Given the description of an element on the screen output the (x, y) to click on. 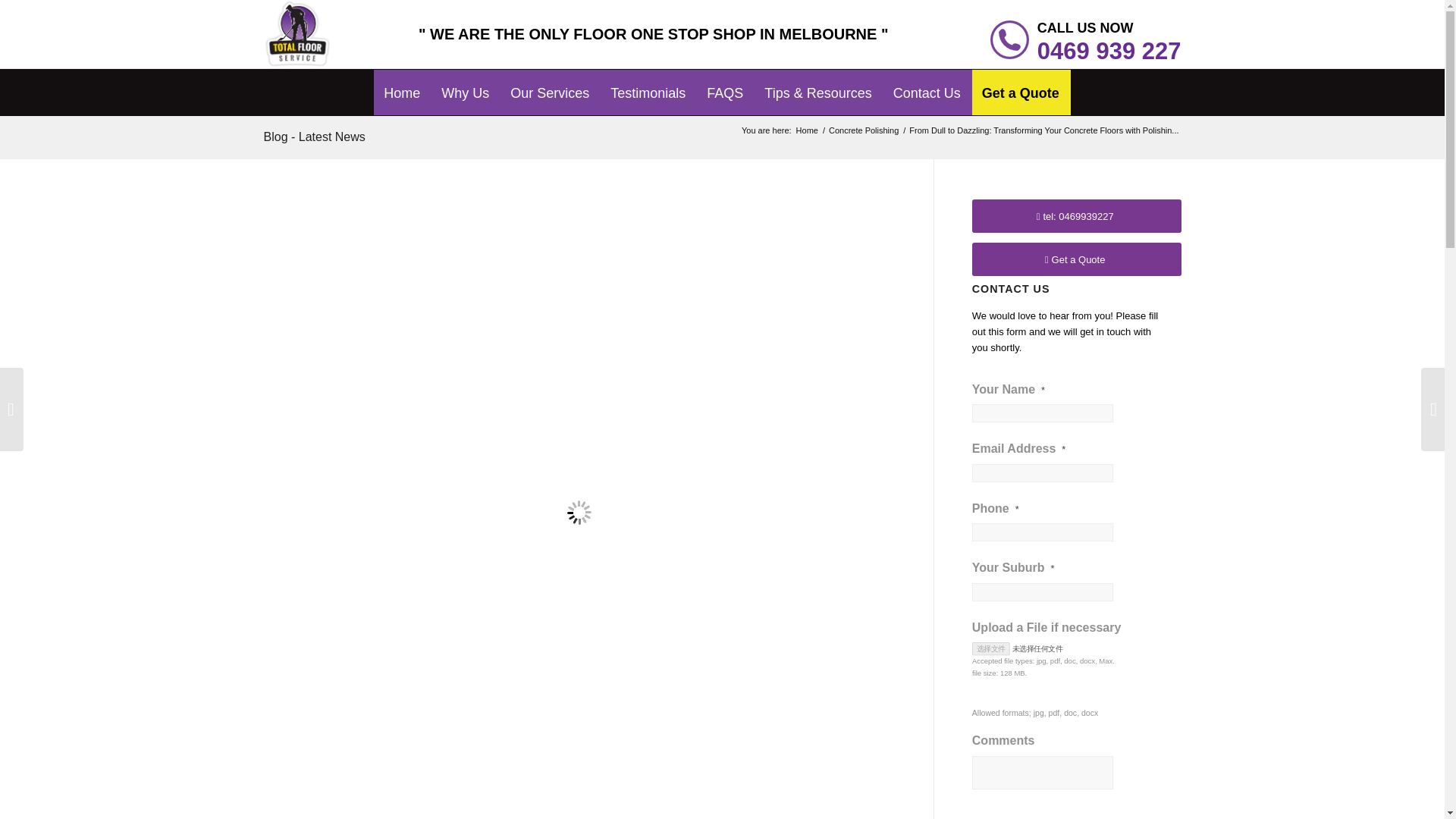
Concrete Polishing (864, 130)
Permanent Link: Blog - Latest News (314, 136)
Get a Quote (1020, 82)
Our Total Floor Services (549, 82)
call icon (1009, 39)
Why Us (464, 82)
Contact Us (927, 82)
Testimonials (647, 82)
Home (807, 130)
Total Floor Service Melbourne (401, 82)
0469 939 227 (1108, 51)
Home (401, 82)
Contact Us (927, 82)
Our Services (549, 82)
